Given the description of an element on the screen output the (x, y) to click on. 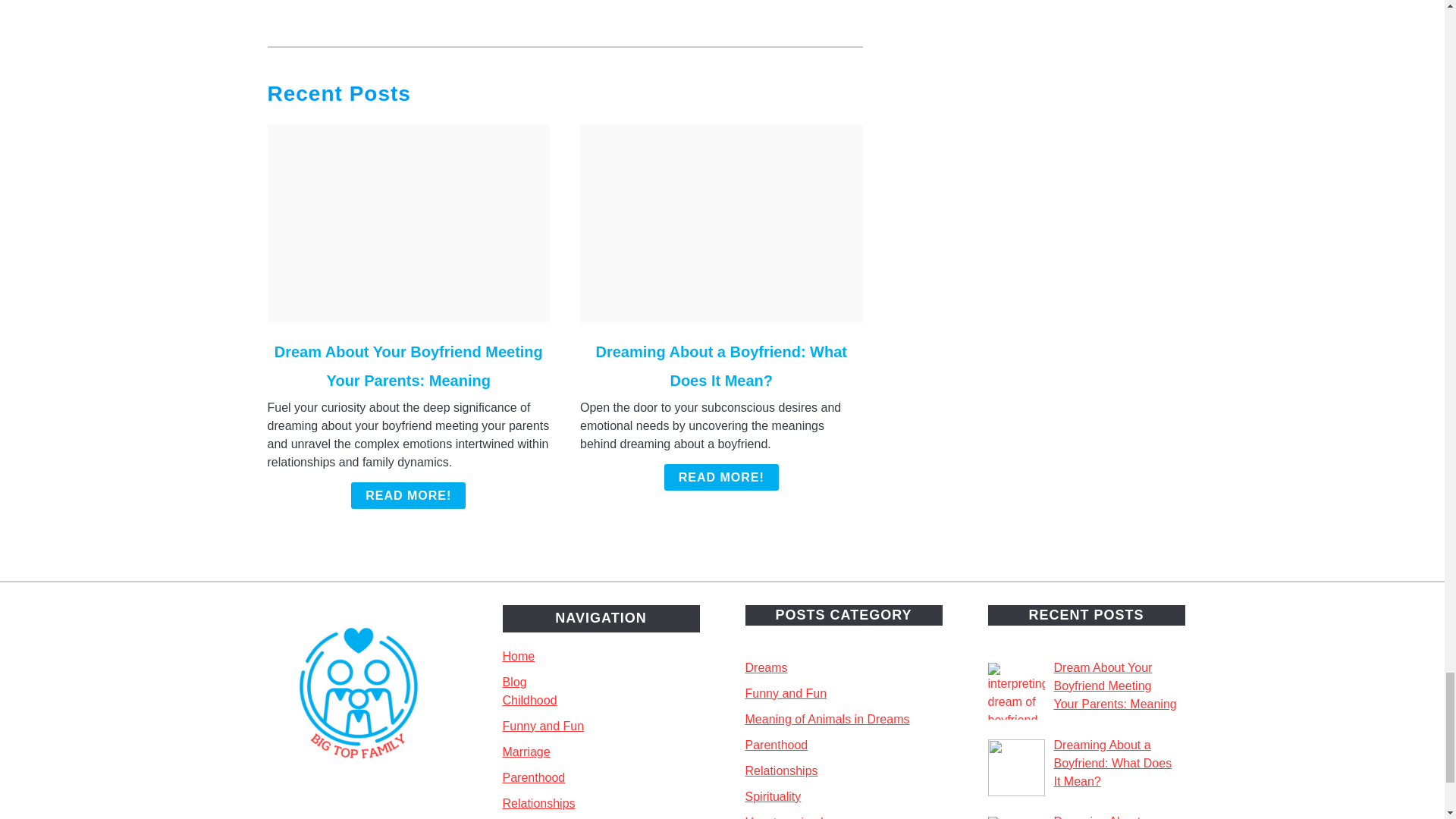
link to Dreaming About a Boyfriend: What Does It Mean? (721, 223)
Dream About Your Boyfriend Meeting Your Parents: Meaning (409, 366)
READ MORE! (407, 495)
READ MORE! (720, 477)
Dreaming About a Boyfriend: What Does It Mean? (721, 366)
